Given the description of an element on the screen output the (x, y) to click on. 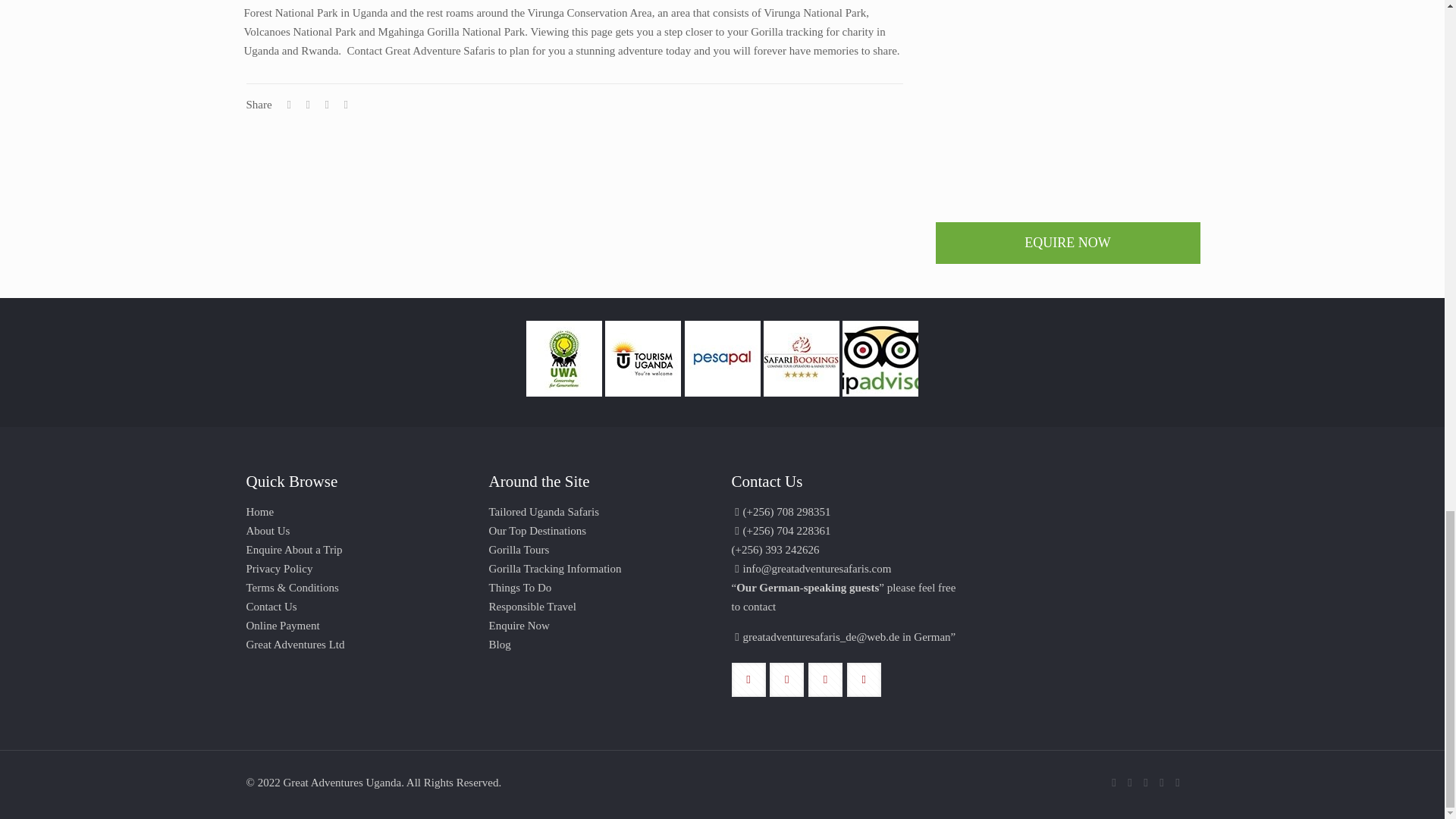
EQUIRE NOW (1067, 242)
Instagram (1161, 782)
Facebook (1129, 782)
WhatsApp (1113, 782)
